Given the description of an element on the screen output the (x, y) to click on. 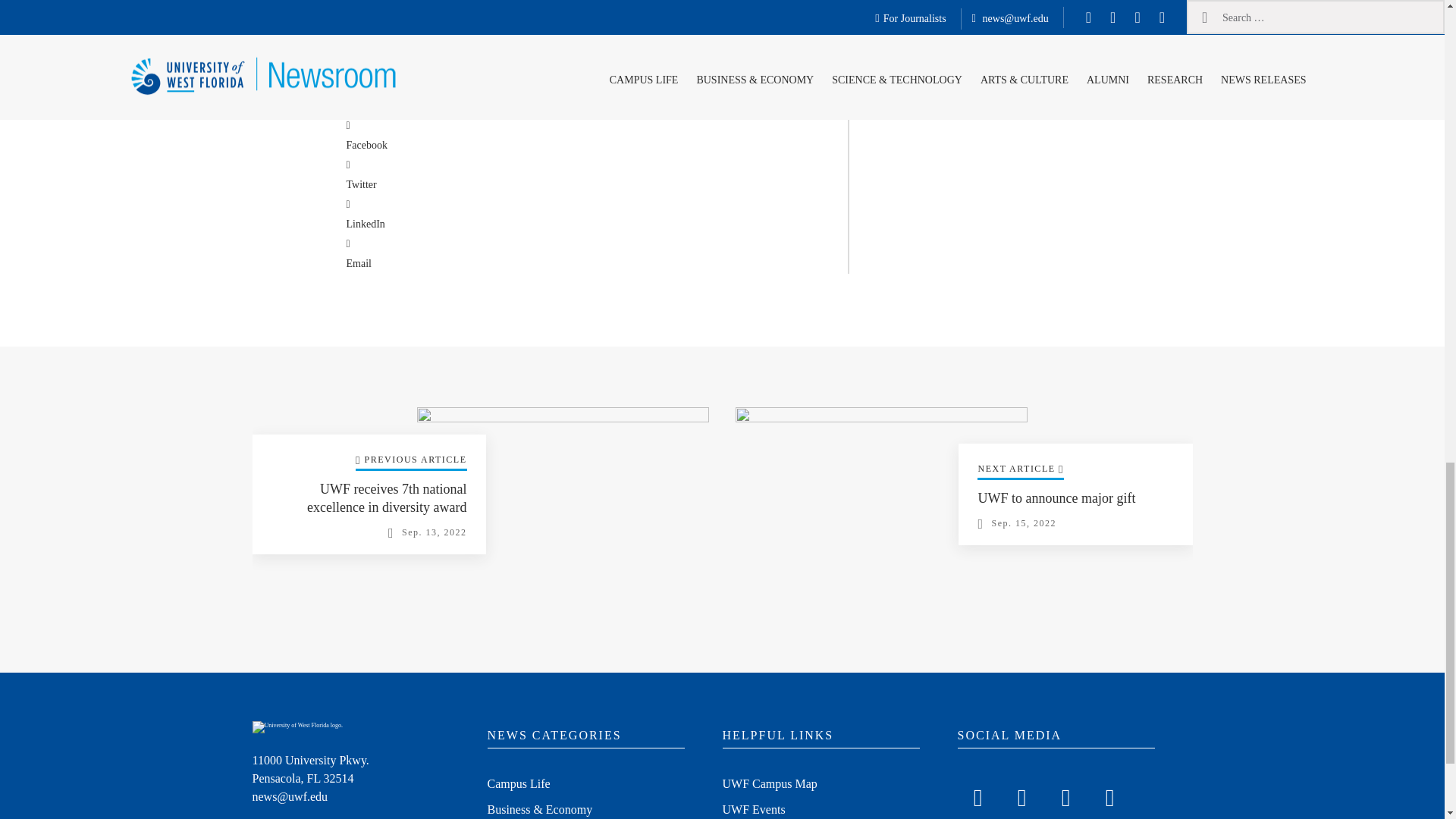
Campus Life (518, 785)
Follow us on Instagram (1065, 794)
Follow us on X (1021, 794)
Find us on Facebook (976, 794)
